Given the description of an element on the screen output the (x, y) to click on. 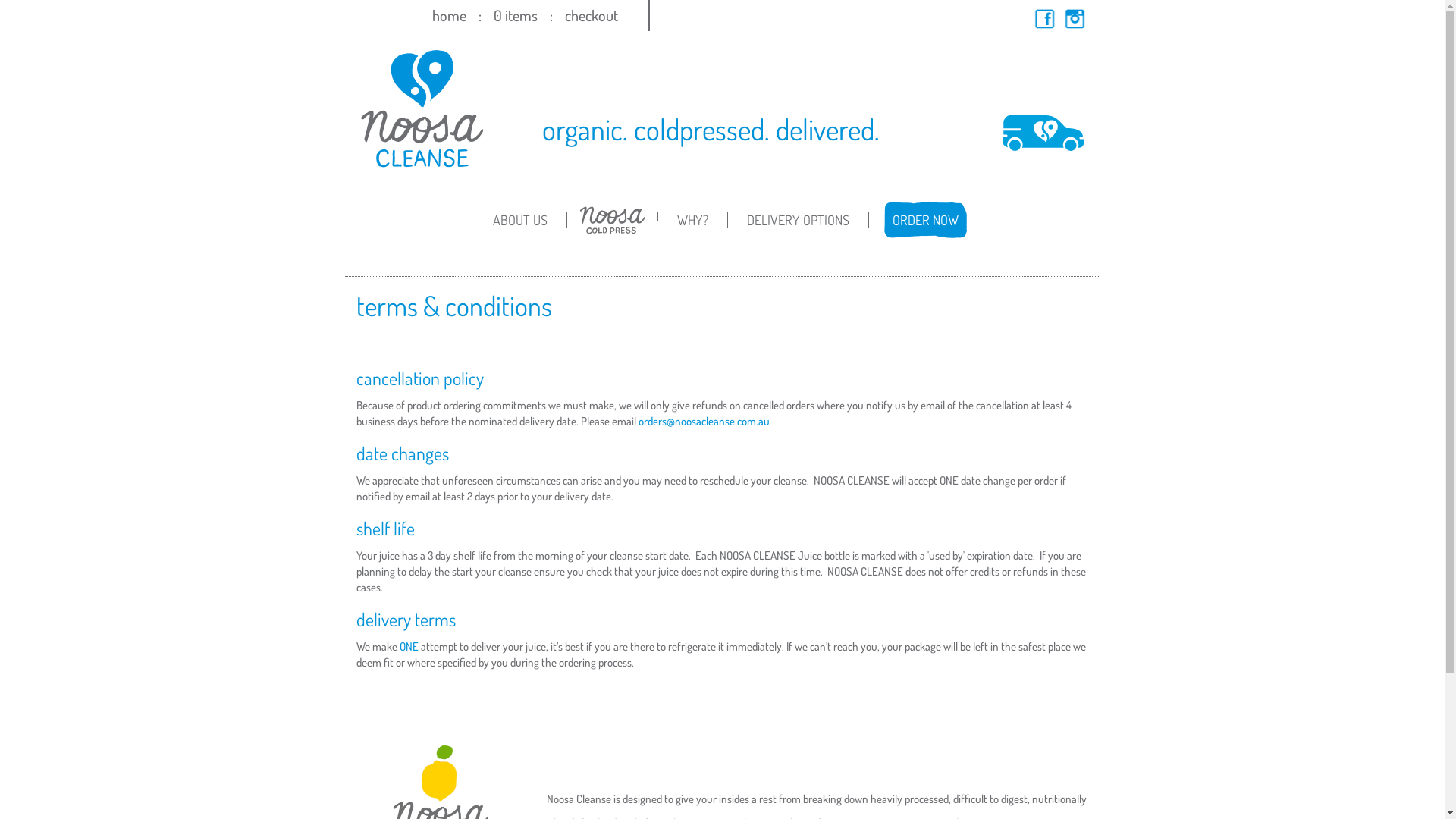
NOOSA COLDPRESS Element type: text (612, 230)
ORDER NOW Element type: text (924, 219)
orders@noosacleanse.com.au Element type: text (703, 421)
ABOUT US Element type: text (519, 219)
Instagram Element type: text (1074, 18)
Facebook Element type: text (1044, 18)
WHY? Element type: text (693, 219)
checkout Element type: text (590, 15)
DELIVERY OPTIONS Element type: text (798, 219)
home Element type: text (449, 15)
